Given the description of an element on the screen output the (x, y) to click on. 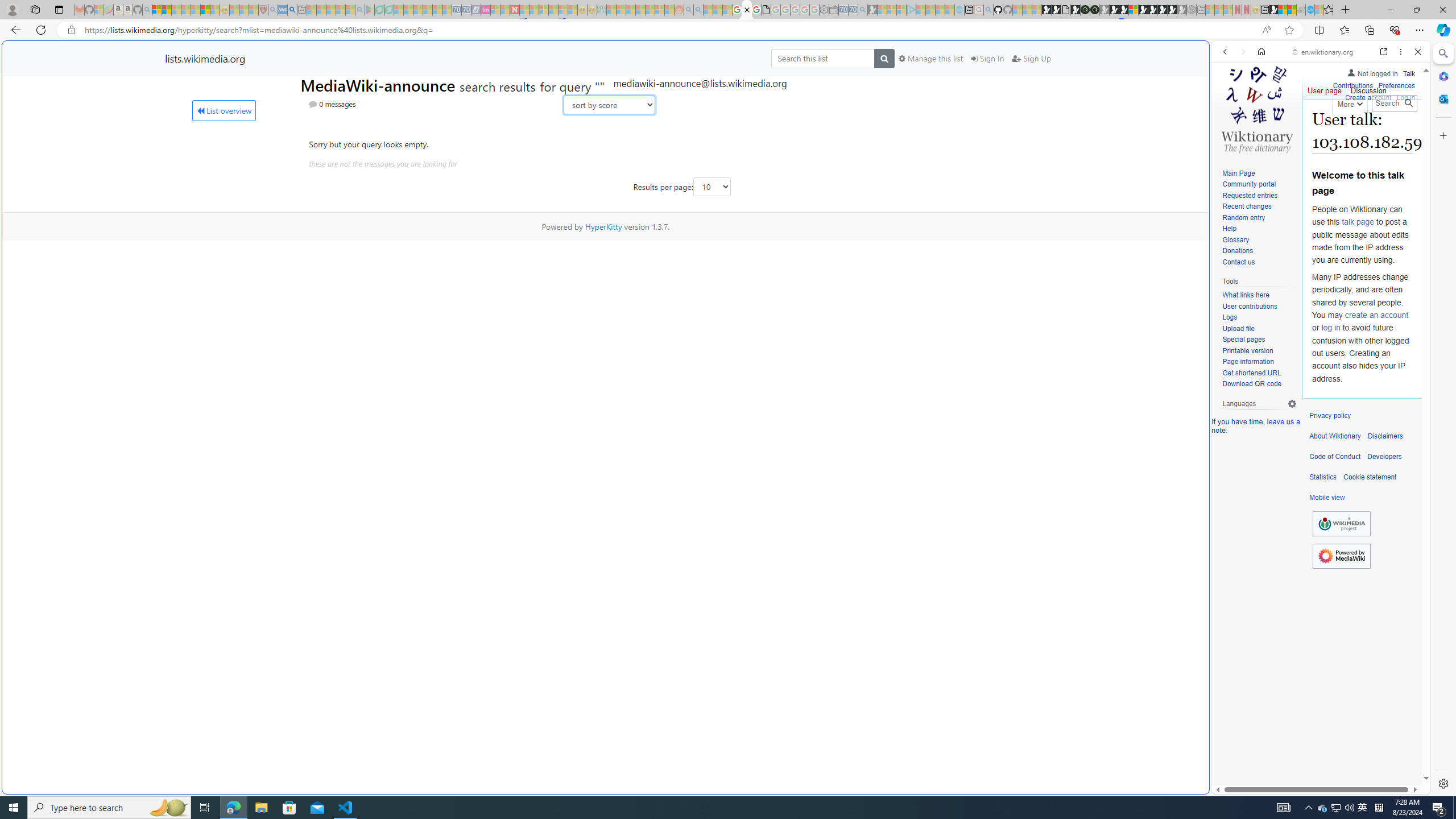
Log in (1405, 96)
Statistics (1322, 477)
Privacy policy (1329, 415)
